Given the description of an element on the screen output the (x, y) to click on. 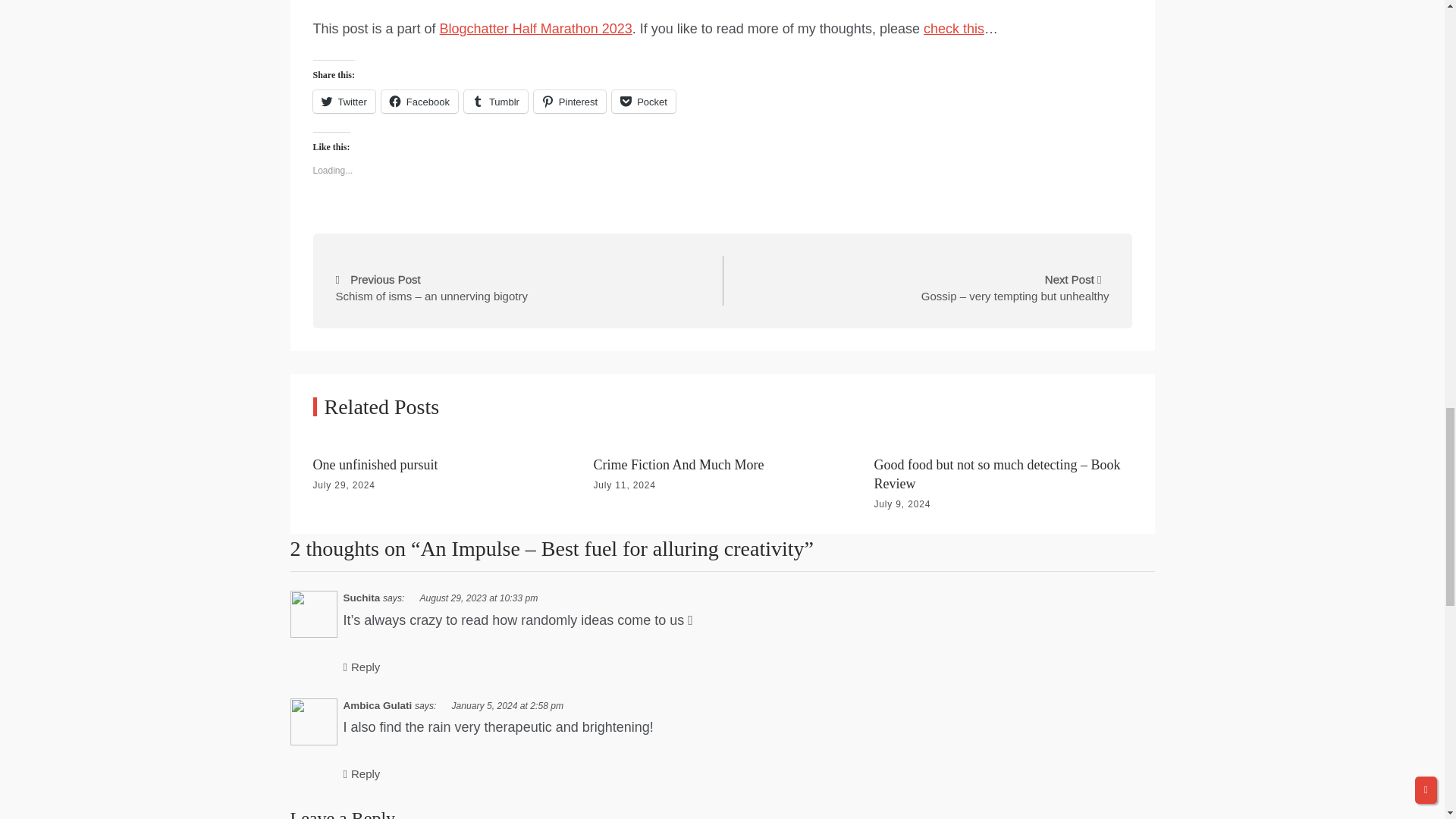
Click to share on Tumblr (495, 101)
check this (953, 28)
Tumblr (495, 101)
Blogchatter Half Marathon 2023 (535, 28)
Twitter (343, 101)
Pinterest (569, 101)
Pocket (643, 101)
Click to share on Twitter (343, 101)
Click to share on Pocket (643, 101)
Facebook (419, 101)
Click to share on Facebook (419, 101)
Click to share on Pinterest (569, 101)
